Given the description of an element on the screen output the (x, y) to click on. 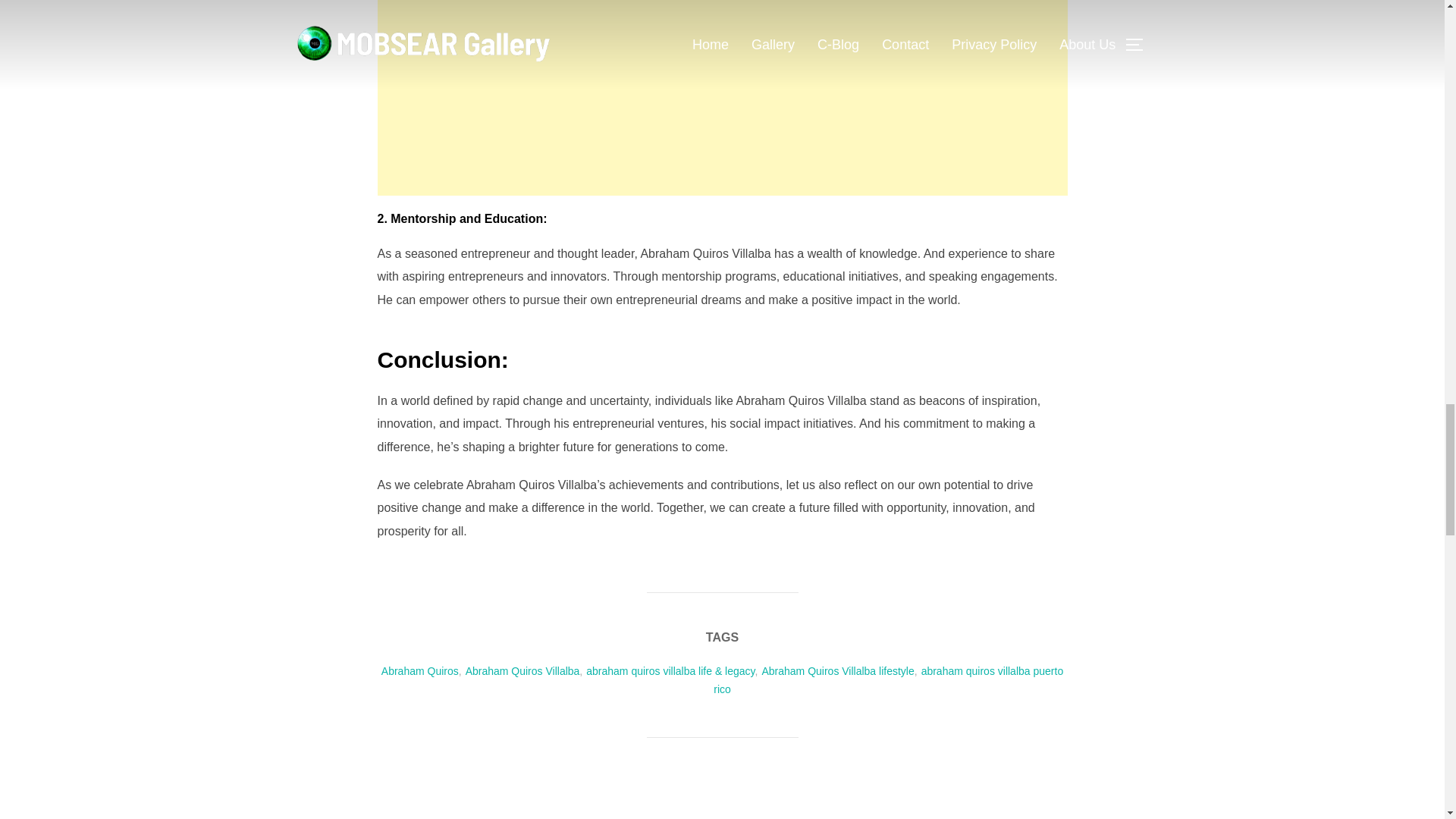
Abraham Quiros Villalba (522, 671)
abraham quiros villalba puerto rico (887, 680)
Abraham Quiros Villalba lifestyle (837, 671)
Abraham Quiros (419, 671)
